Given the description of an element on the screen output the (x, y) to click on. 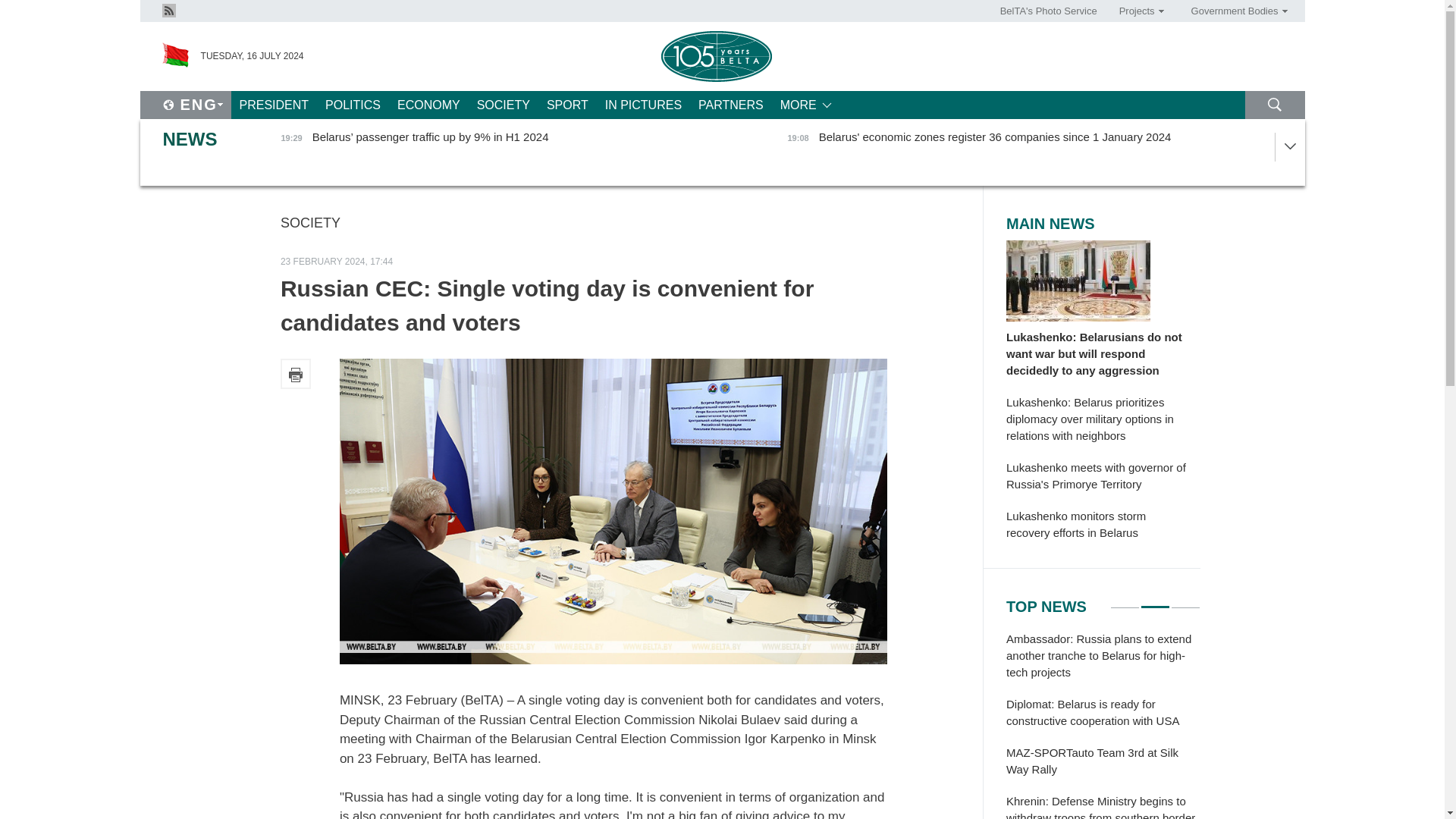
Projects (1136, 11)
Government Bodies (1233, 11)
Government Bodies (1233, 11)
BelTA's Photo Service (1048, 11)
BelTA's Photo Service (1048, 11)
Rss (168, 10)
Rss (167, 9)
Projects (1136, 11)
